Given the description of an element on the screen output the (x, y) to click on. 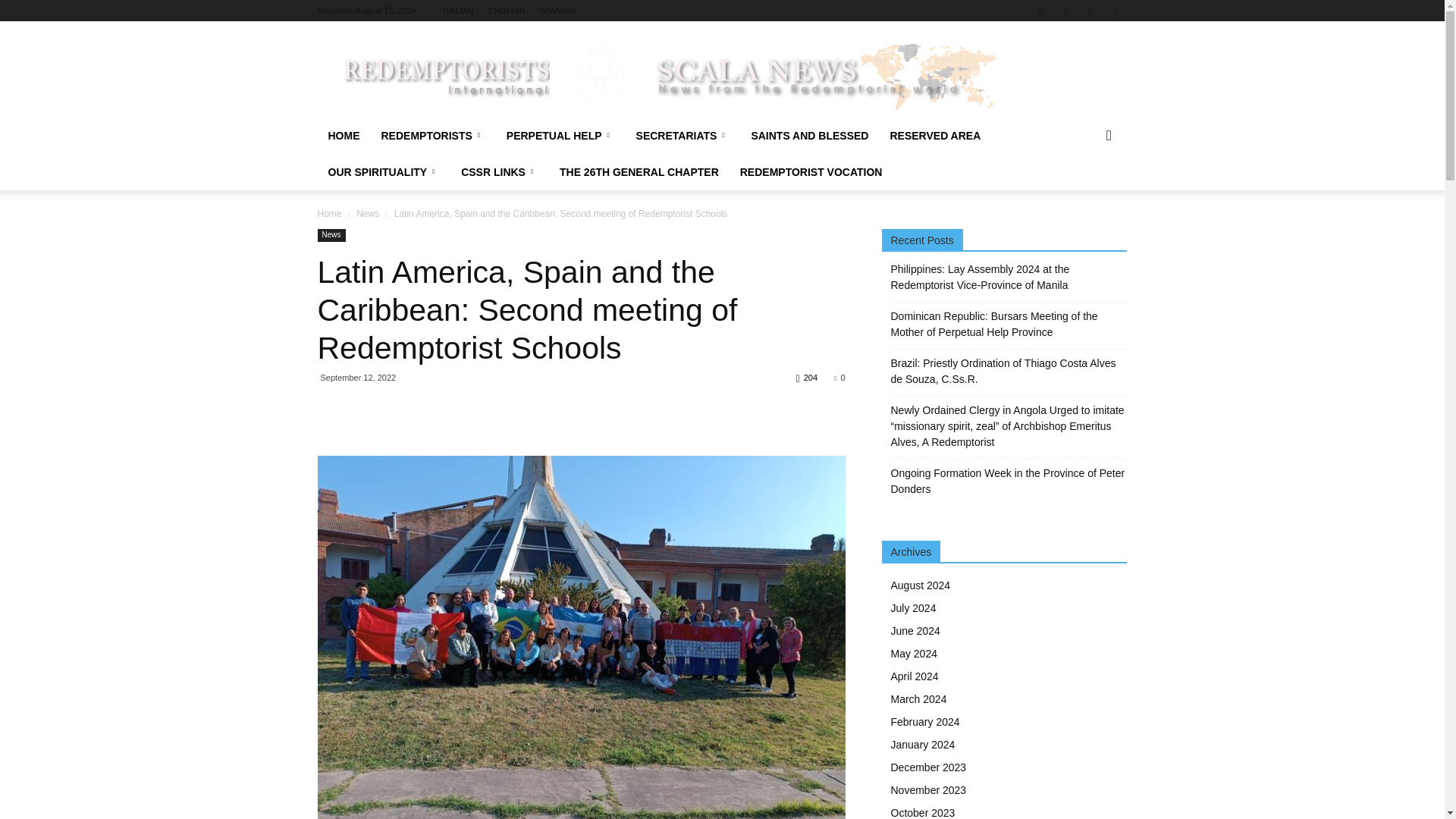
Twitter (1090, 10)
Flickr (1065, 10)
Facebook (1040, 10)
View all posts in News (367, 213)
Youtube (1114, 10)
